Given the description of an element on the screen output the (x, y) to click on. 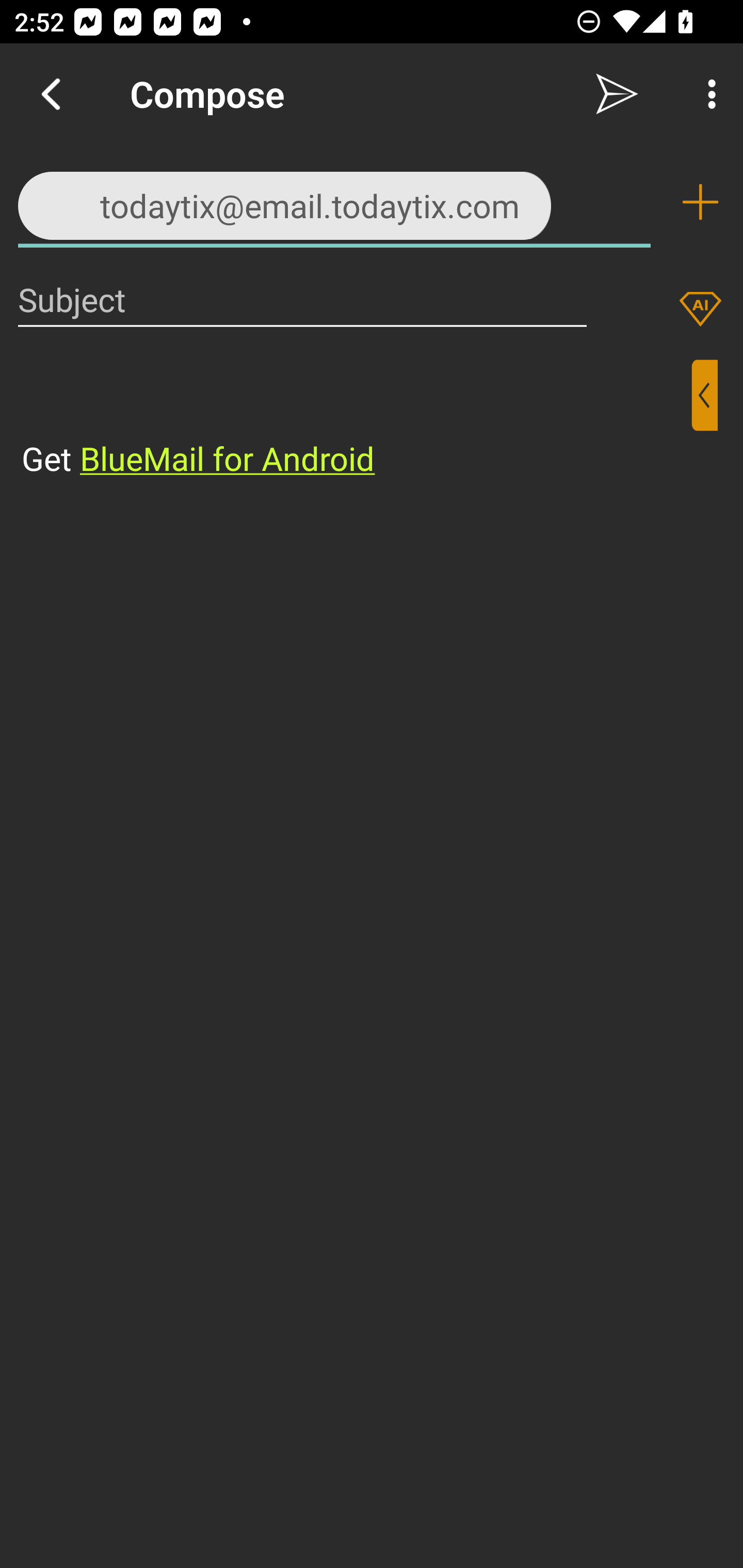
Navigate up (50, 93)
Send (616, 93)
More Options (706, 93)
<todaytix@email.todaytix.com>,  (334, 201)
Add recipient (To) (699, 201)
Subject (302, 299)


⁣Get BlueMail for Android ​ (355, 419)
